Given the description of an element on the screen output the (x, y) to click on. 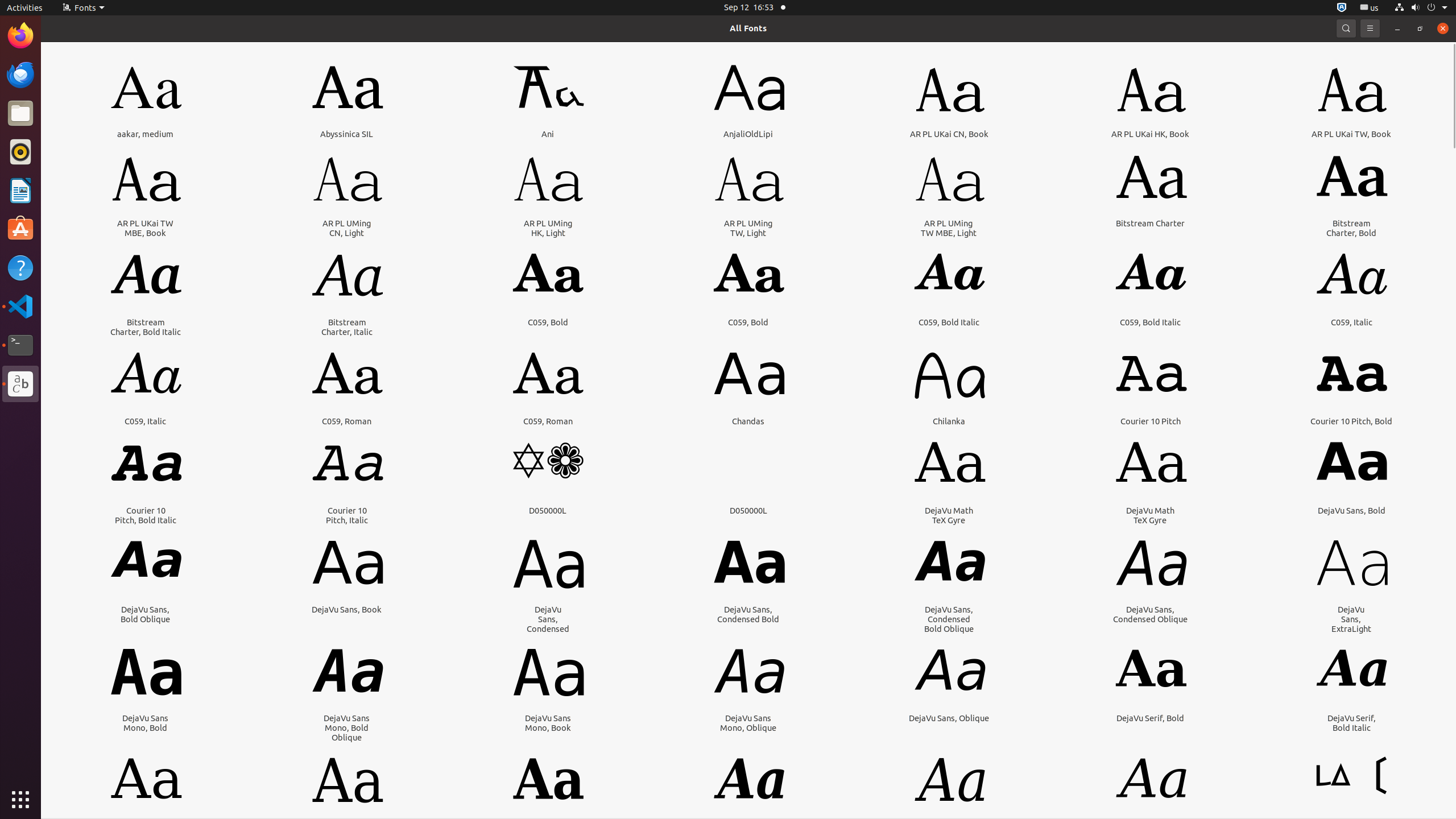
C059, Bold Element type: label (547, 322)
AR PL UMing TW, Light Element type: label (748, 227)
C059, Italic Element type: label (1351, 322)
DejaVu Serif, Bold Element type: label (1150, 717)
